Given the description of an element on the screen output the (x, y) to click on. 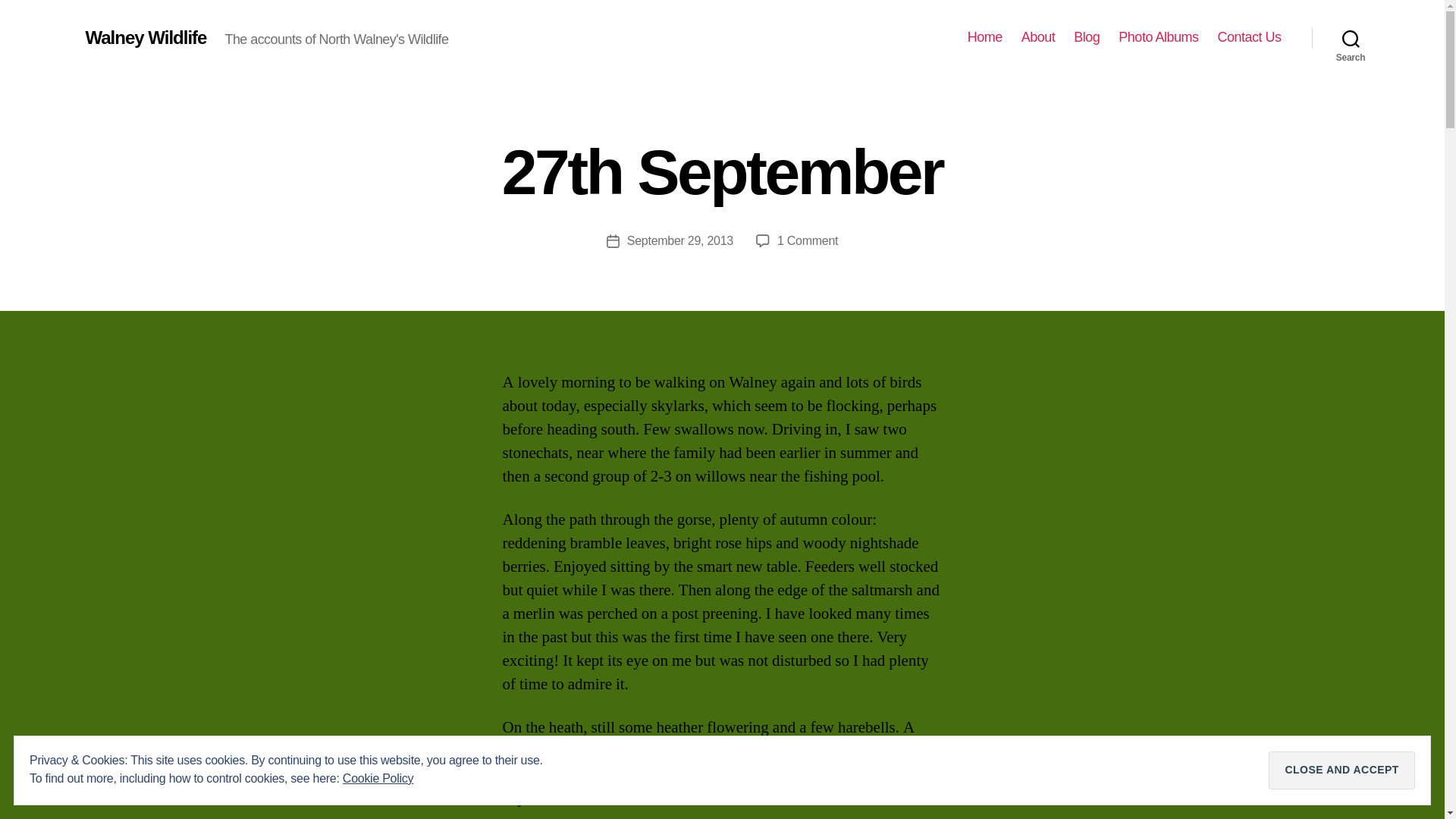
Walney Wildlife (145, 37)
Close and accept (1341, 770)
About (1038, 37)
Close and accept (1341, 770)
Home (985, 37)
Cookie Policy (377, 778)
Photo Albums (1158, 37)
Search (1350, 37)
September 29, 2013 (680, 240)
Contact Us (1249, 37)
